Given the description of an element on the screen output the (x, y) to click on. 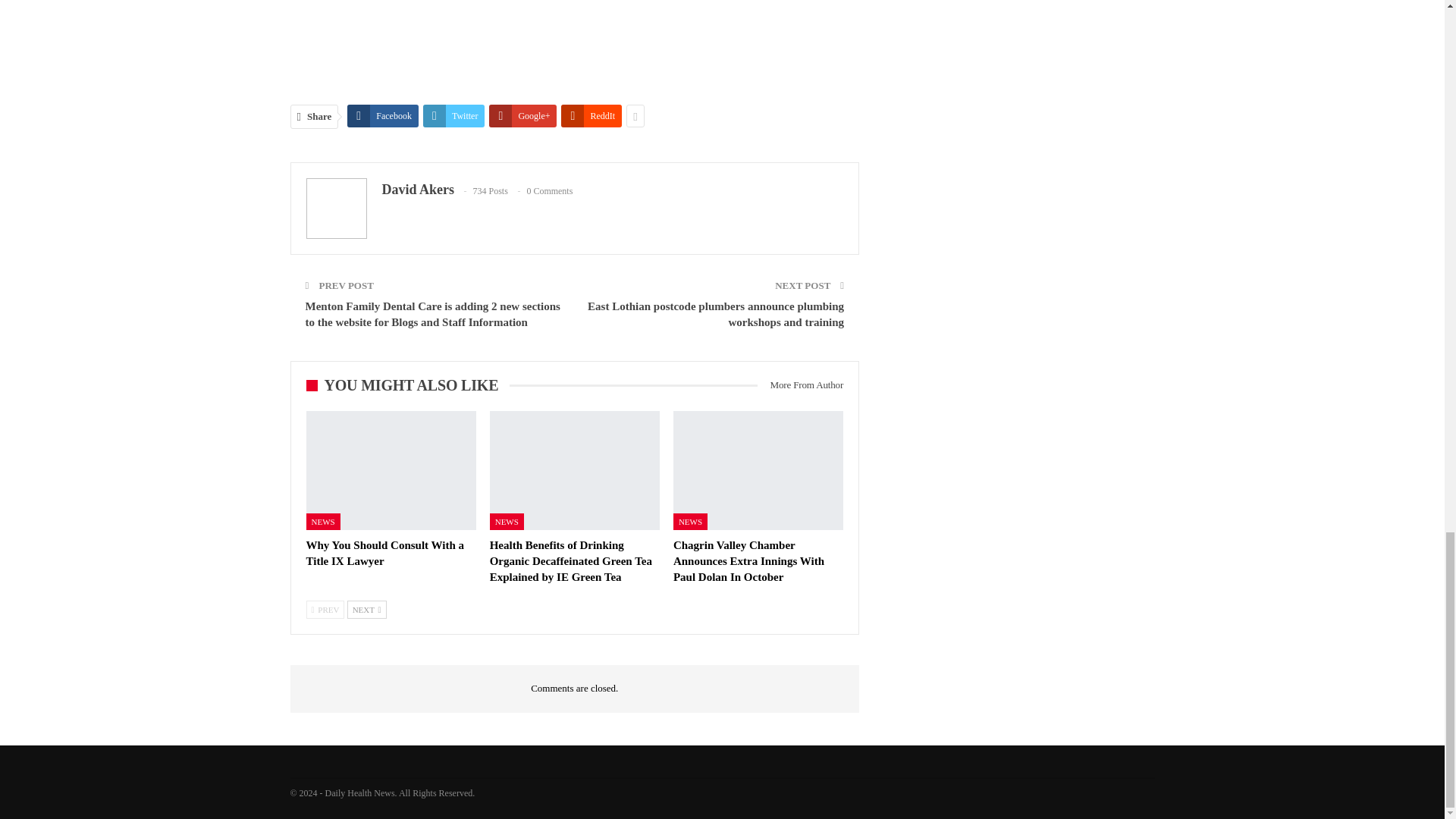
Facebook (383, 115)
Twitter (453, 115)
Why You Should Consult With a Title IX Lawyer (390, 470)
Previous (325, 609)
Why You Should Consult With a Title IX Lawyer (384, 552)
ReddIt (590, 115)
Next (367, 609)
